Given the description of an element on the screen output the (x, y) to click on. 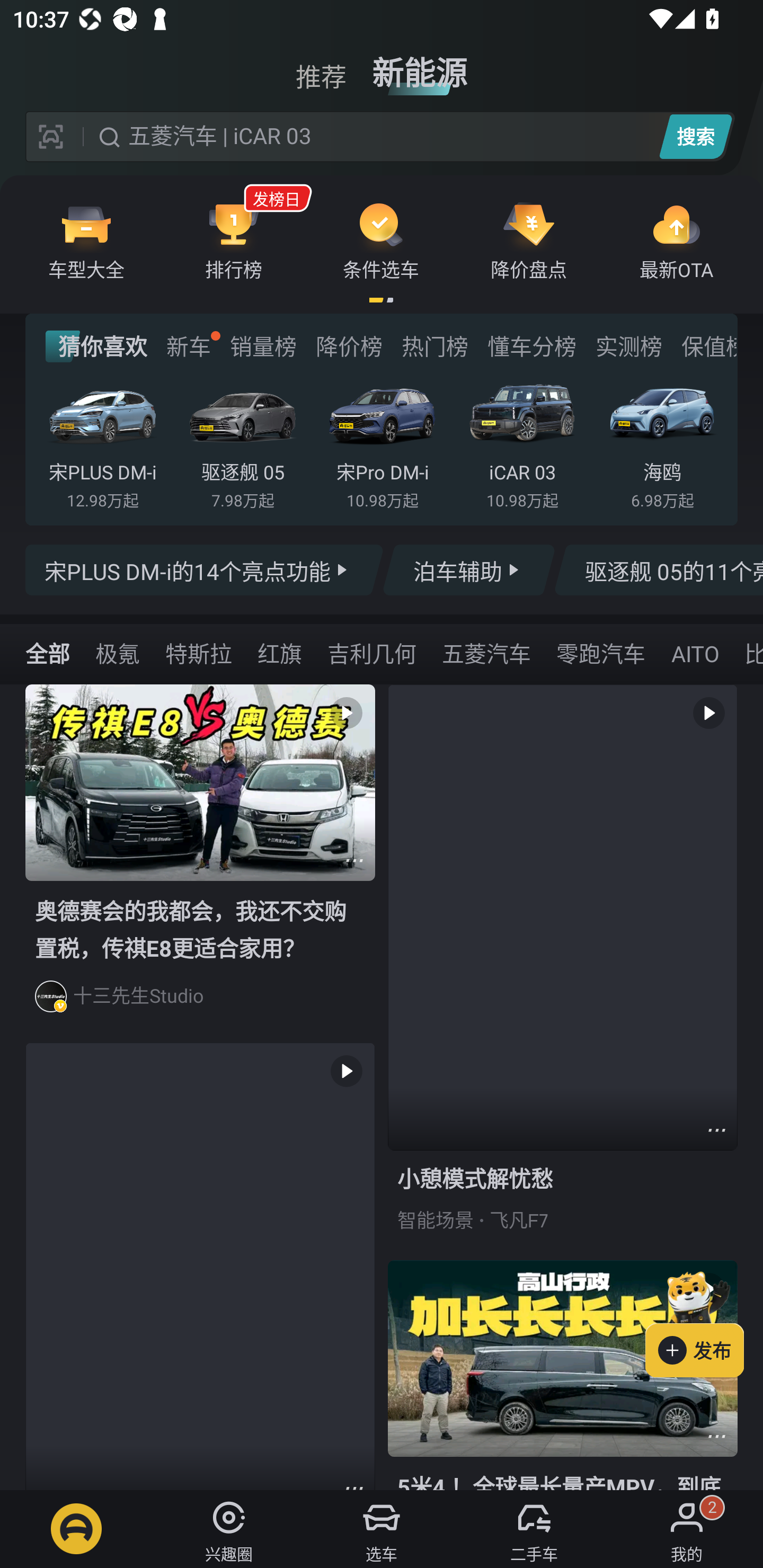
推荐 (321, 65)
新能源 (419, 65)
搜索 (695, 136)
车型大全 (86, 240)
发榜日 排行榜 (233, 240)
条件选车 (380, 240)
降价盘点 (528, 240)
最新OTA (676, 240)
猜你喜欢 (96, 346)
新车 (188, 346)
销量榜 (262, 346)
降价榜 (348, 346)
热门榜 (434, 346)
懂车分榜 (531, 346)
实测榜 (628, 346)
保值榜 (708, 346)
宋PLUS DM-i 12.98万起 (102, 442)
驱逐舰 05 7.98万起 (242, 442)
宋Pro DM-i 10.98万起 (382, 442)
iCAR 03 10.98万起 (522, 442)
海鸥 6.98万起 (662, 442)
宋PLUS DM-i的14个亮点功能 (204, 569)
泊车辅助 (468, 569)
驱逐舰 05的11个亮点功能 (658, 569)
全部 (47, 652)
极氪 (117, 652)
特斯拉 (198, 652)
红旗 (279, 652)
吉利几何 (371, 652)
五菱汽车 (485, 652)
零跑汽车 (600, 652)
AITO (694, 652)
  奥德赛会的我都会，我还不交购置税，传祺E8更适合家用？ 十三先生Studio (200, 862)
  小憩模式解忧愁 智能场景 飞凡F7 (562, 971)
 (354, 860)
 (716, 1130)
飞凡F7 (518, 1220)
  5米4 ！全球最长量产MPV，到底好不好开？ (562, 1374)
发布 (704, 1320)
 (716, 1436)
 兴趣圈 (228, 1528)
 选车 (381, 1528)
 二手车 (533, 1528)
 我的 (686, 1528)
